Given the description of an element on the screen output the (x, y) to click on. 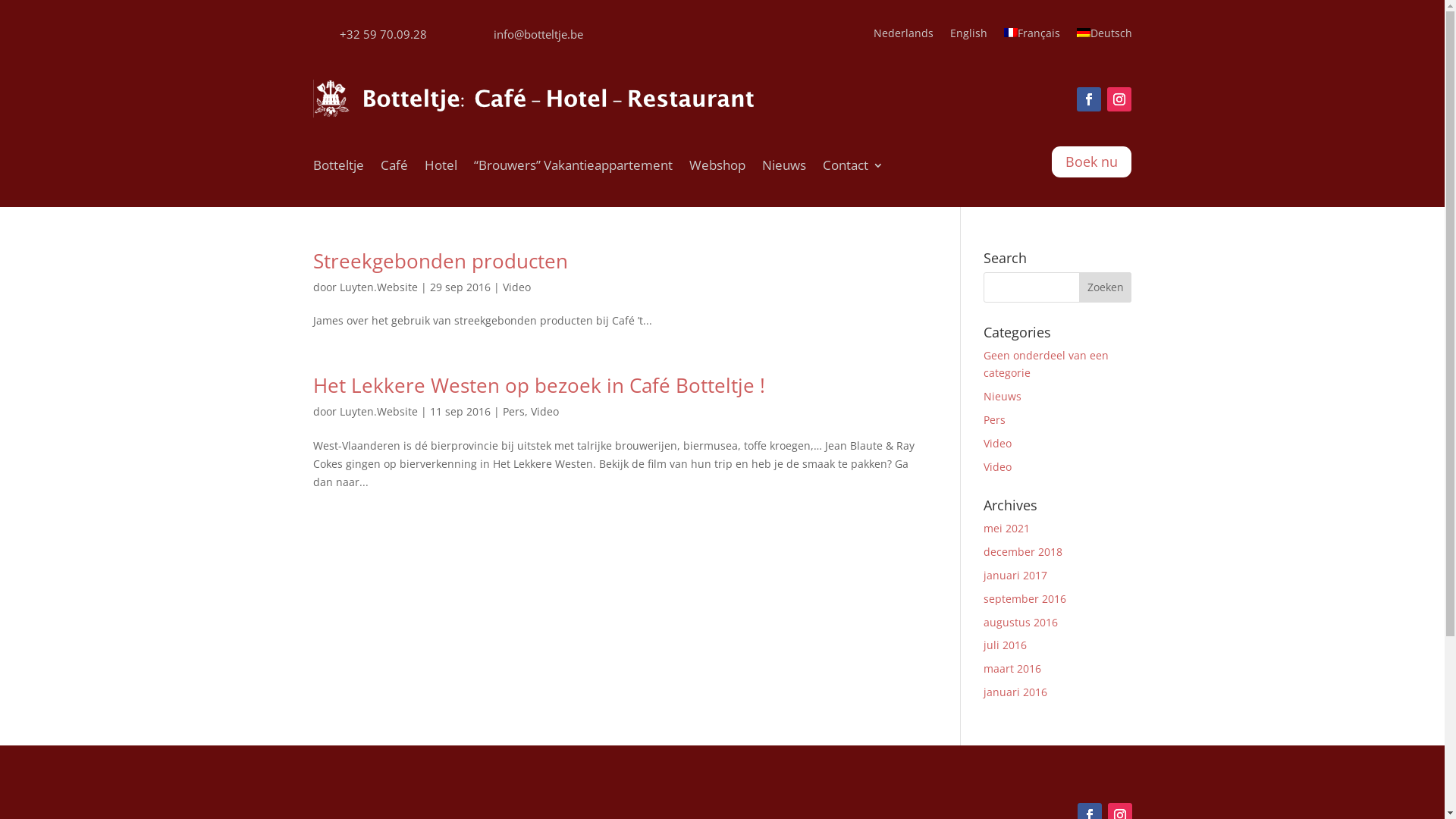
Contact Element type: text (852, 168)
Nederlands Element type: text (903, 36)
Hotel Element type: text (440, 168)
Volg op Facebook Element type: hover (1088, 99)
Zoeken Element type: text (1105, 287)
september 2016 Element type: text (1024, 598)
juli 2016 Element type: text (1004, 644)
Geen onderdeel van een categorie Element type: text (1045, 364)
mei 2021 Element type: text (1006, 527)
januari 2017 Element type: text (1015, 574)
English Element type: text (967, 36)
augustus 2016 Element type: text (1020, 622)
Video Element type: text (544, 411)
Video Element type: text (997, 443)
Video Element type: text (516, 286)
Pers Element type: text (513, 411)
Botteltje Element type: text (337, 168)
december 2018 Element type: text (1022, 551)
Deutsch Element type: text (1104, 36)
Nieuws Element type: text (1002, 396)
Streekgebonden producten Element type: text (439, 260)
Boek nu Element type: text (1091, 161)
Webshop Element type: text (716, 168)
Pers Element type: text (994, 419)
Nieuws Element type: text (783, 168)
maart 2016 Element type: text (1012, 668)
januari 2016 Element type: text (1015, 691)
Volg op Instagram Element type: hover (1119, 99)
Video Element type: text (997, 466)
Luyten.Website Element type: text (378, 411)
Luyten.Website Element type: text (378, 286)
